Given the description of an element on the screen output the (x, y) to click on. 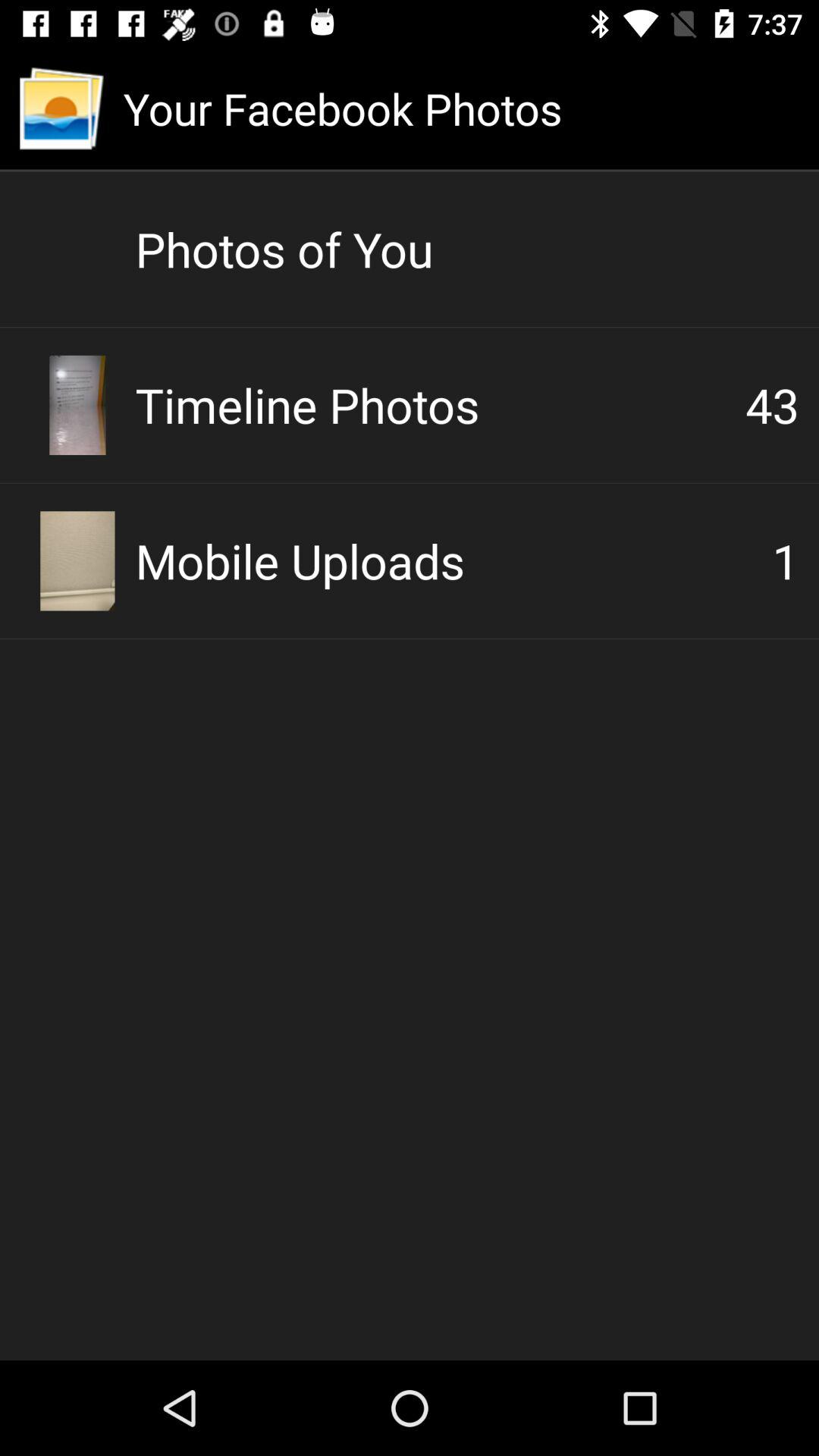
click the item to the left of 43 (440, 404)
